Given the description of an element on the screen output the (x, y) to click on. 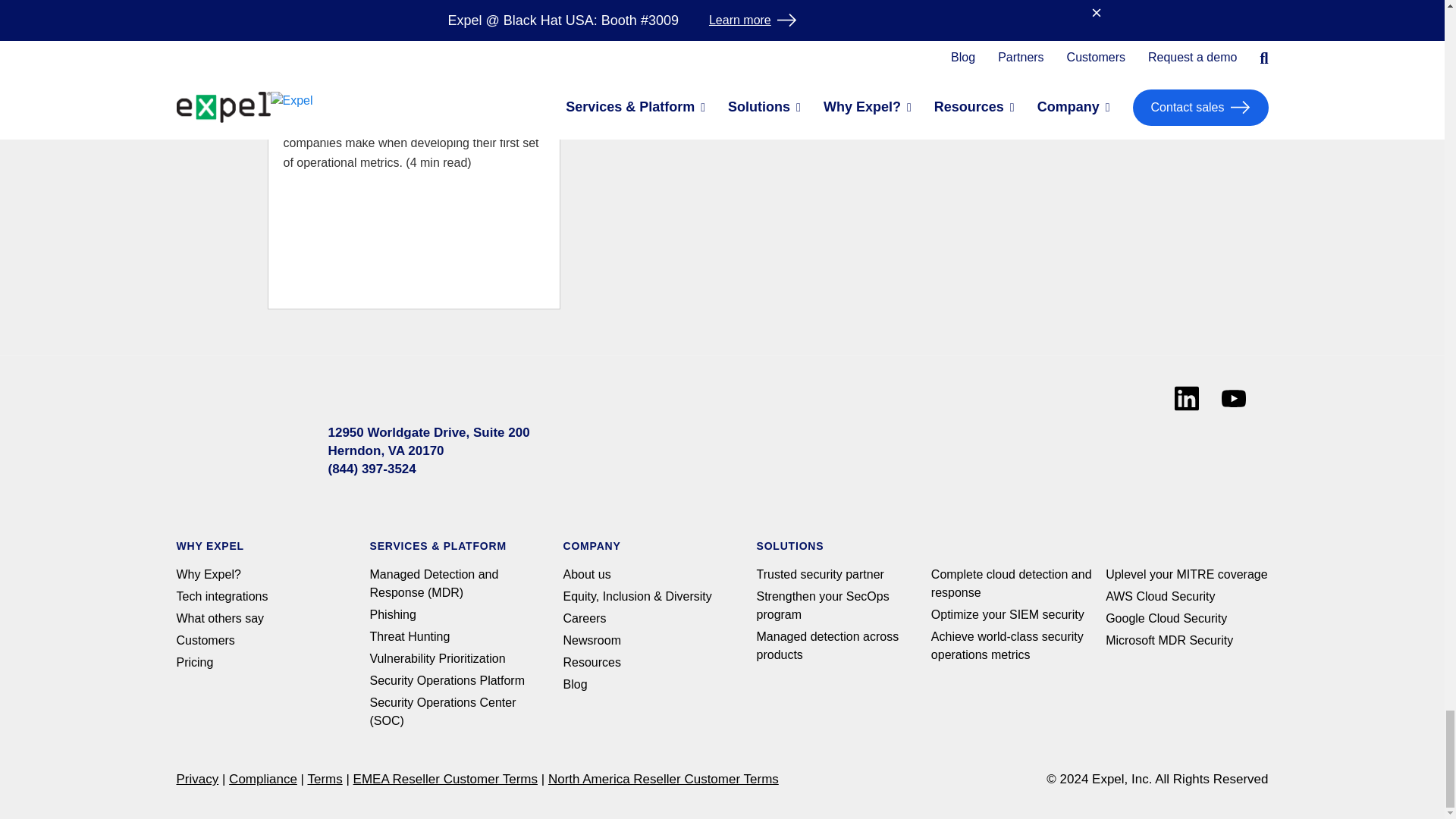
youtube-icon (1232, 398)
linkedin-icon (1185, 398)
twitter-x-icon (1037, 442)
